Given the description of an element on the screen output the (x, y) to click on. 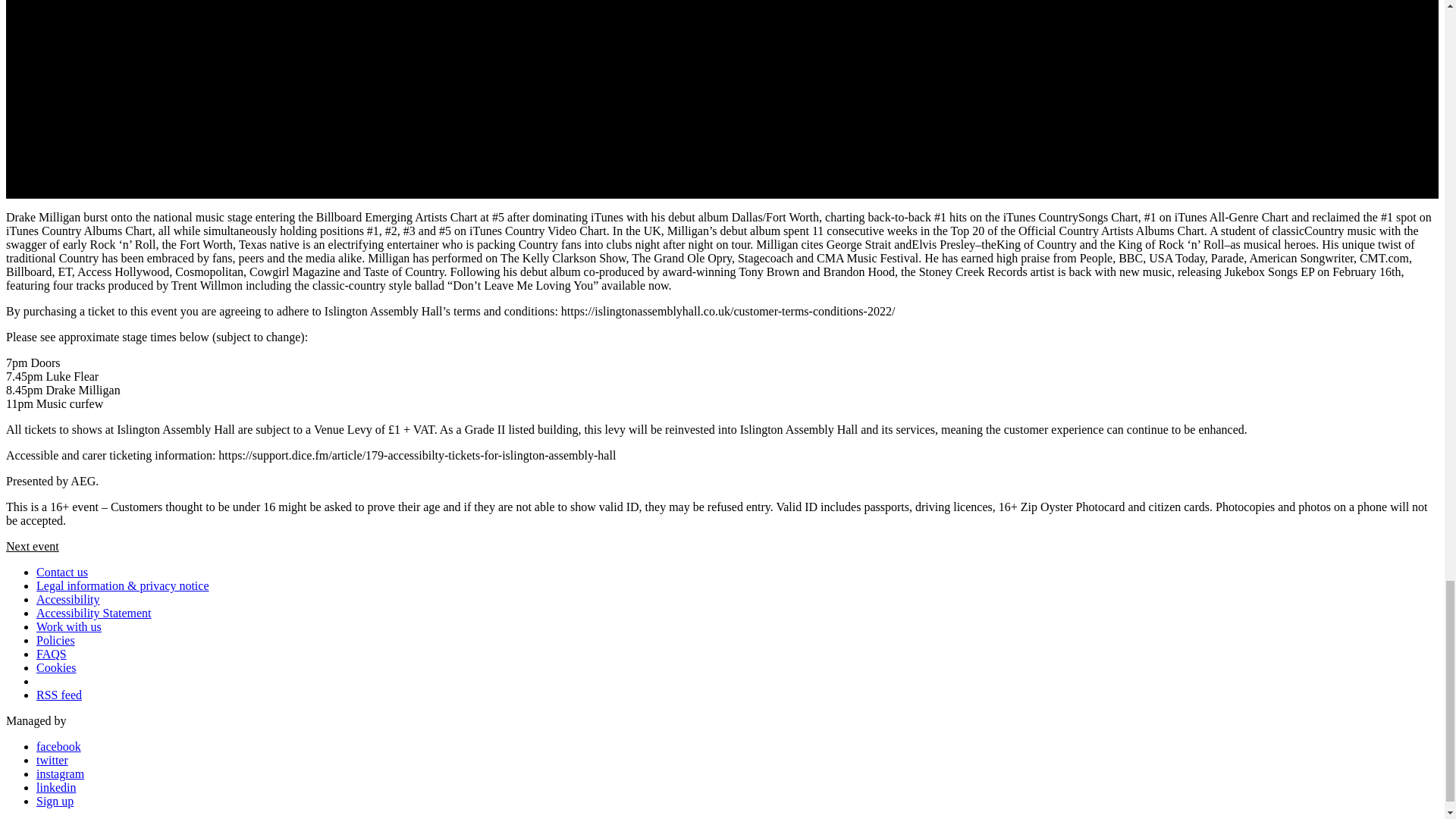
Contact us (61, 571)
Next event (32, 545)
